Given the description of an element on the screen output the (x, y) to click on. 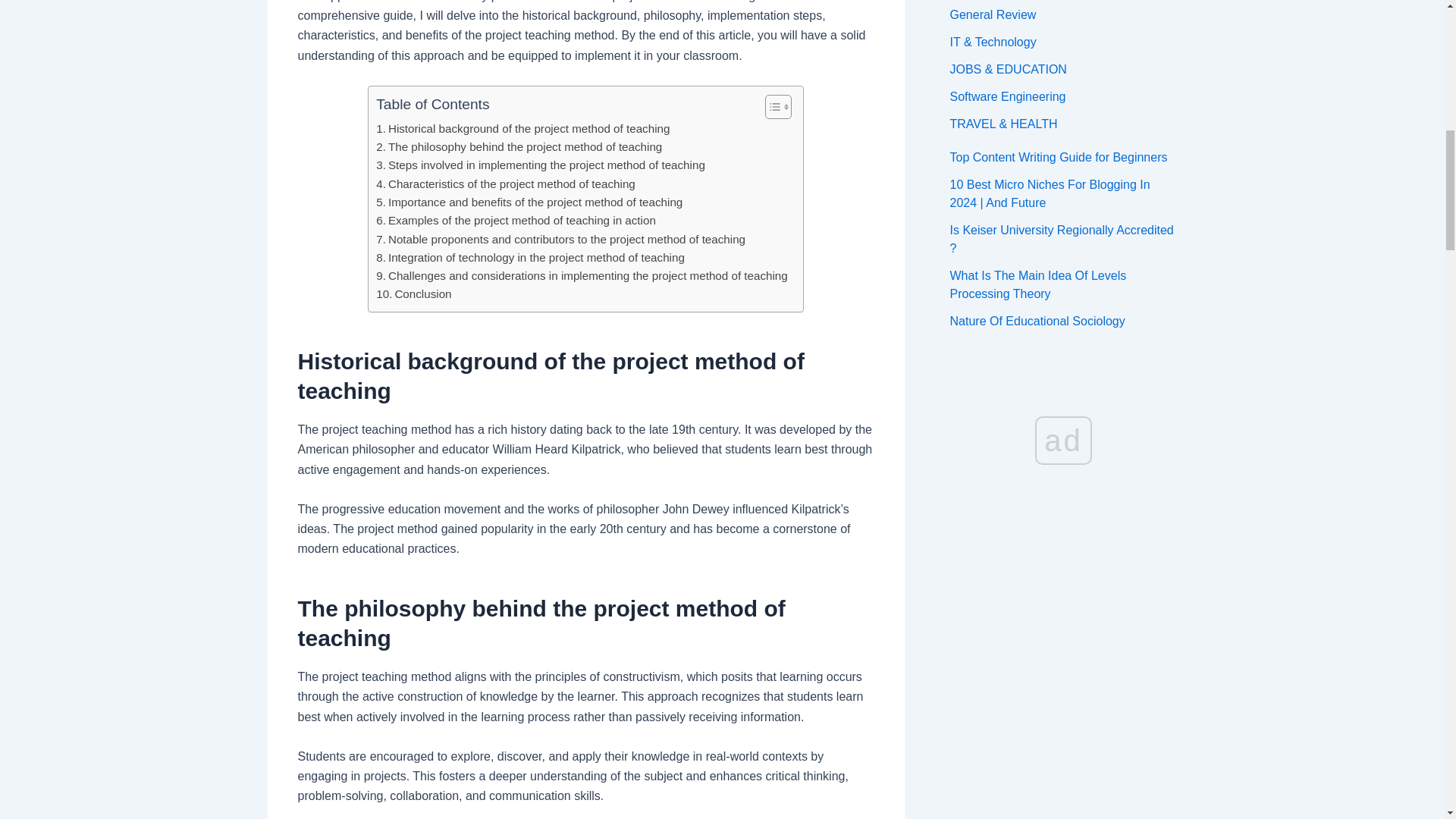
Examples of the project method of teaching in action (515, 220)
Characteristics of the project method of teaching (504, 184)
Importance and benefits of the project method of teaching (528, 202)
The philosophy behind the project method of teaching (518, 147)
Historical background of the project method of teaching (522, 128)
Integration of technology in the project method of teaching (529, 257)
Conclusion (413, 294)
